Given the description of an element on the screen output the (x, y) to click on. 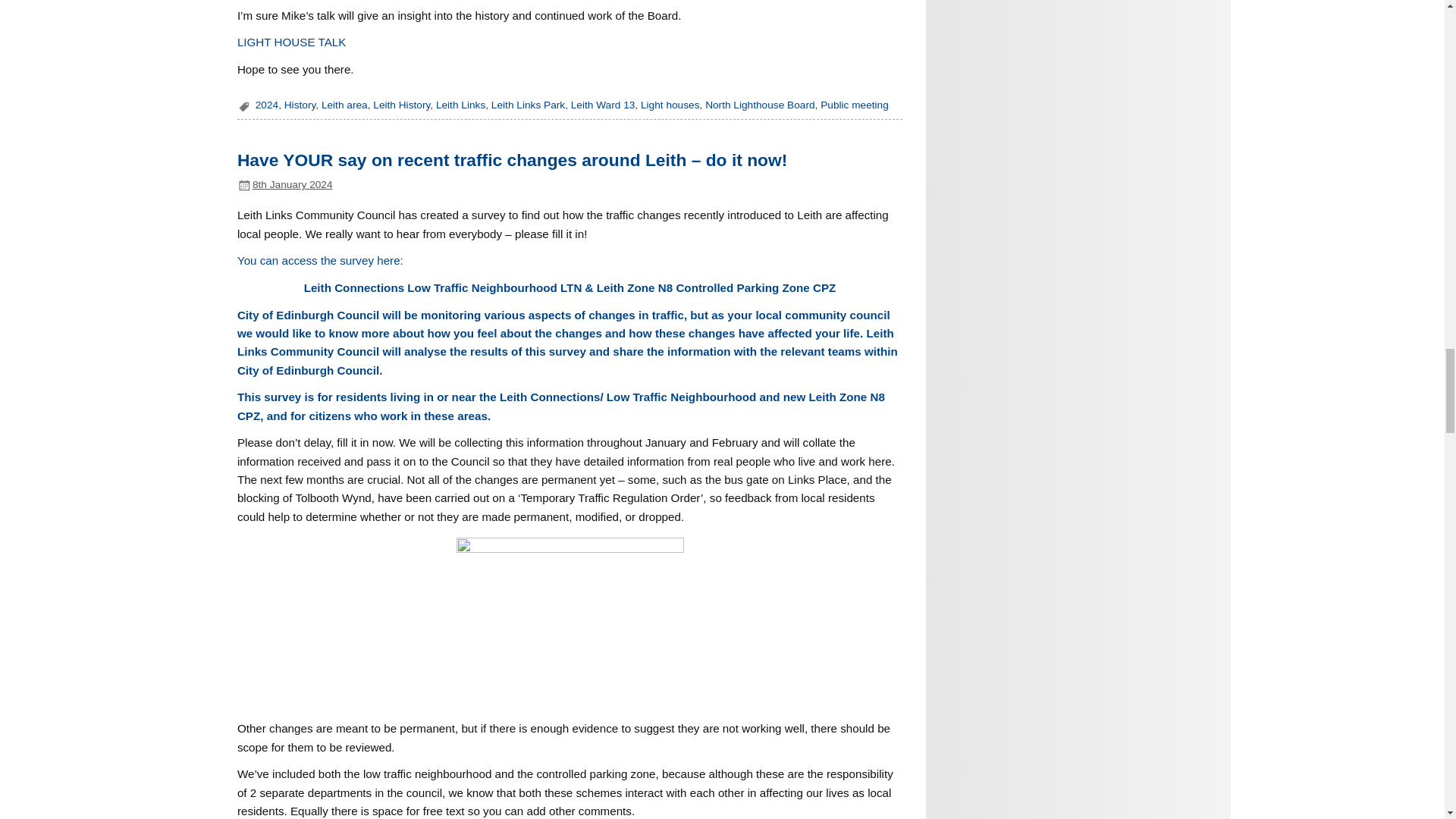
2:03 PM (292, 184)
